Given the description of an element on the screen output the (x, y) to click on. 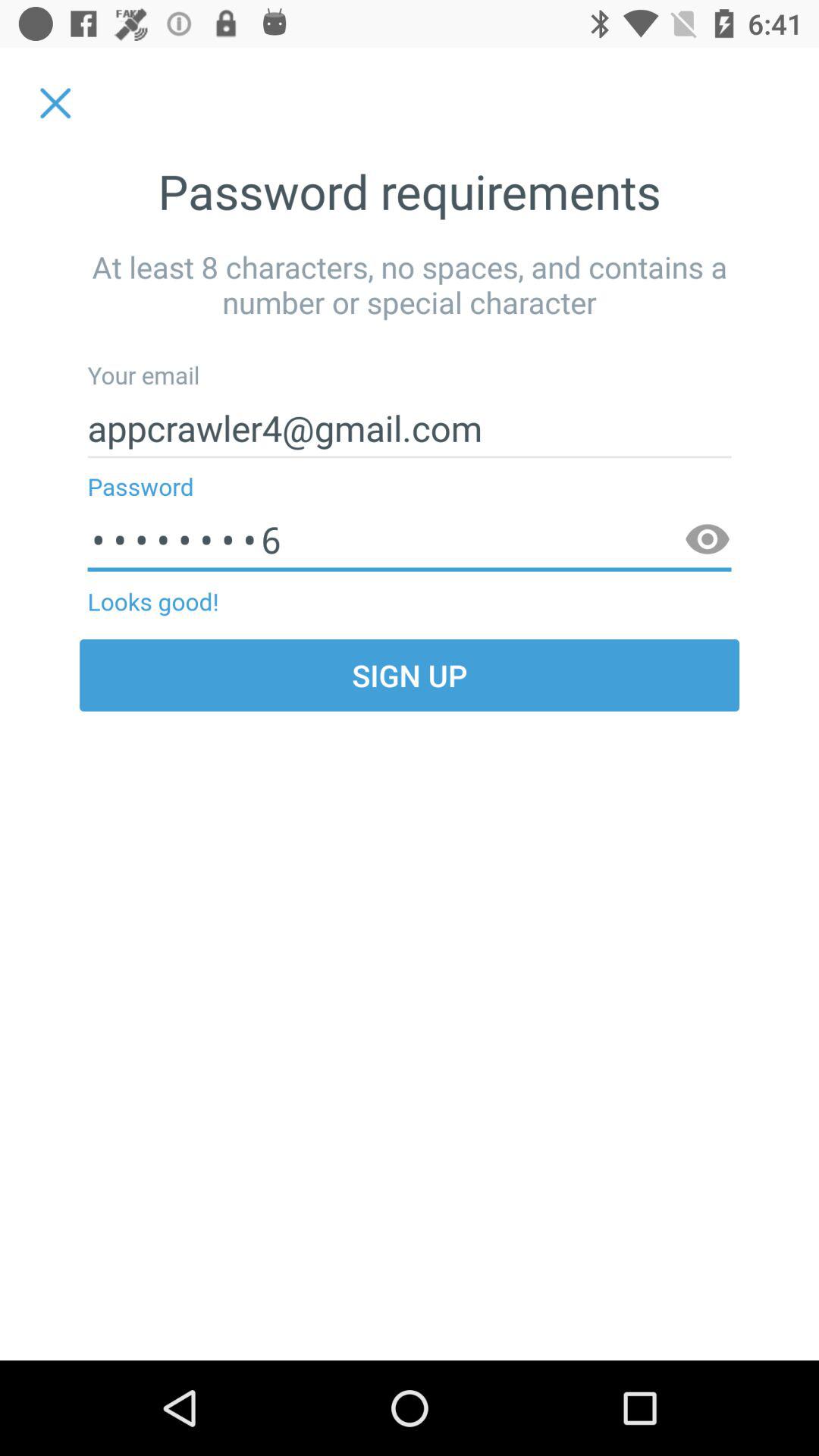
turn on app to the right of looks good! icon (707, 539)
